Given the description of an element on the screen output the (x, y) to click on. 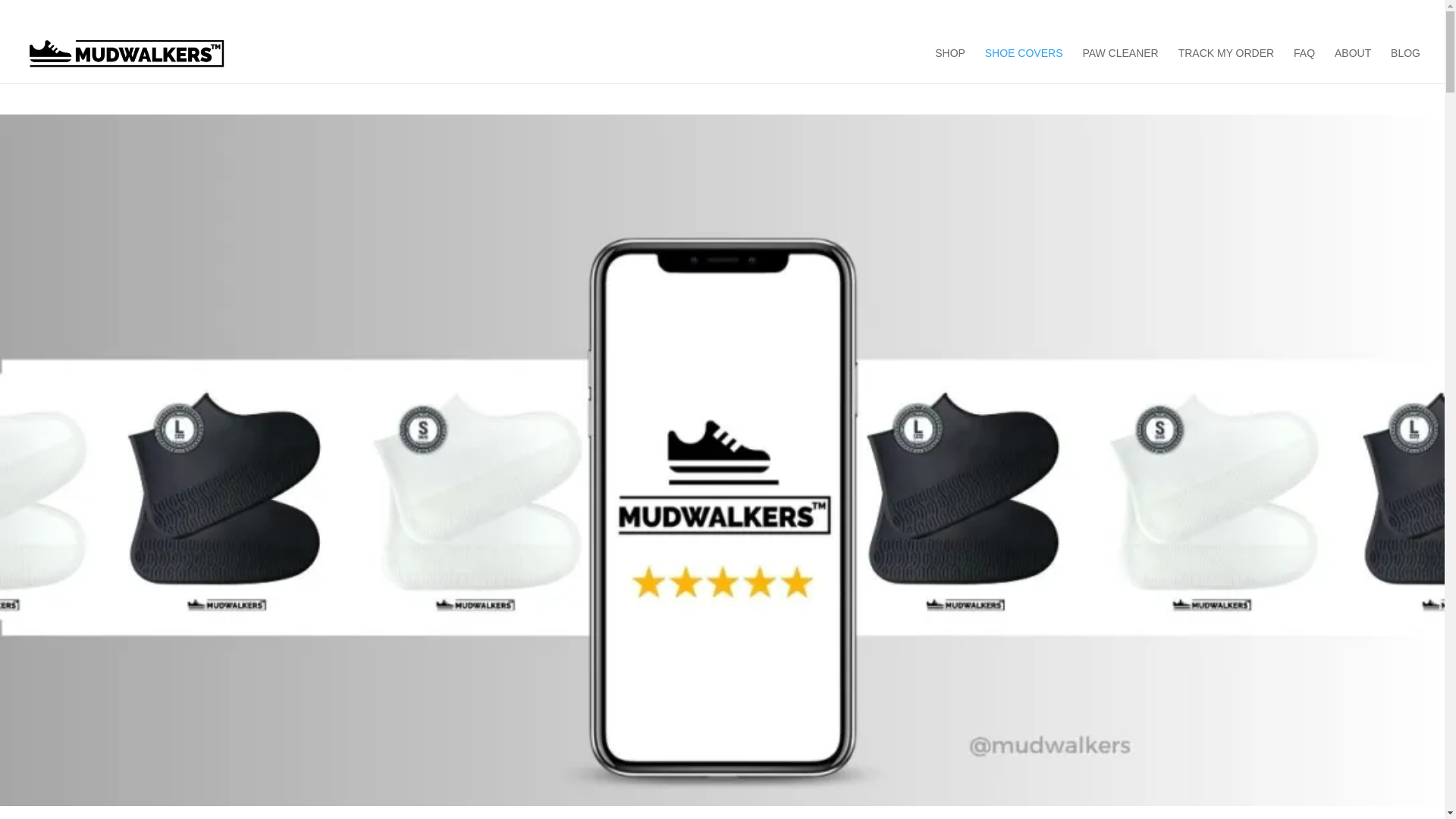
TRACK MY ORDER (1226, 65)
FAQ (1355, 14)
0 Items (1399, 10)
Cart (1196, 14)
SHOE COVERS (1023, 65)
Track my order (1300, 14)
Contact (1236, 14)
About (1160, 14)
PAW CLEANER (1119, 65)
ABOUT (1353, 65)
